Given the description of an element on the screen output the (x, y) to click on. 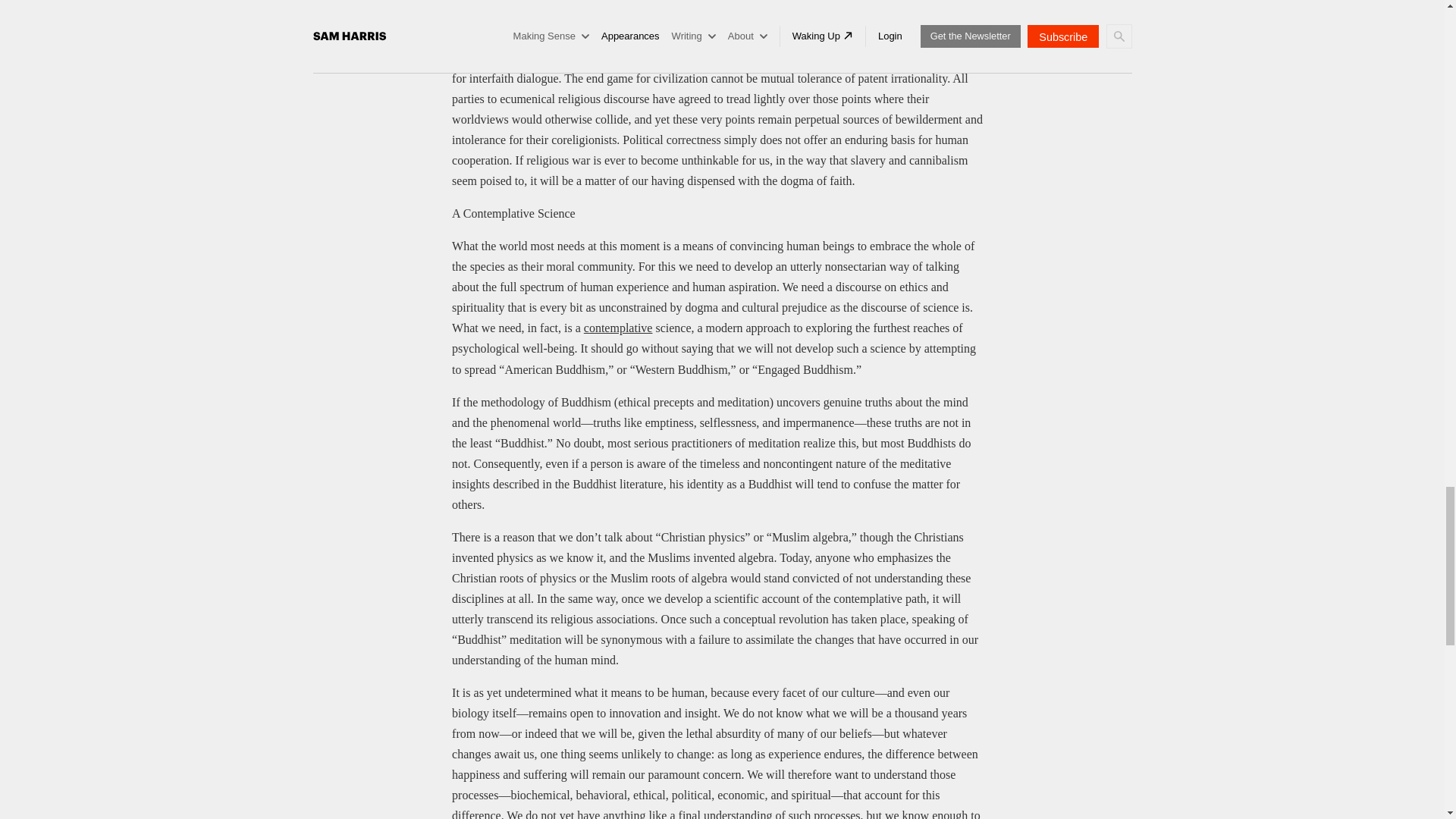
Minfulness (617, 327)
contemplative (617, 327)
